Given the description of an element on the screen output the (x, y) to click on. 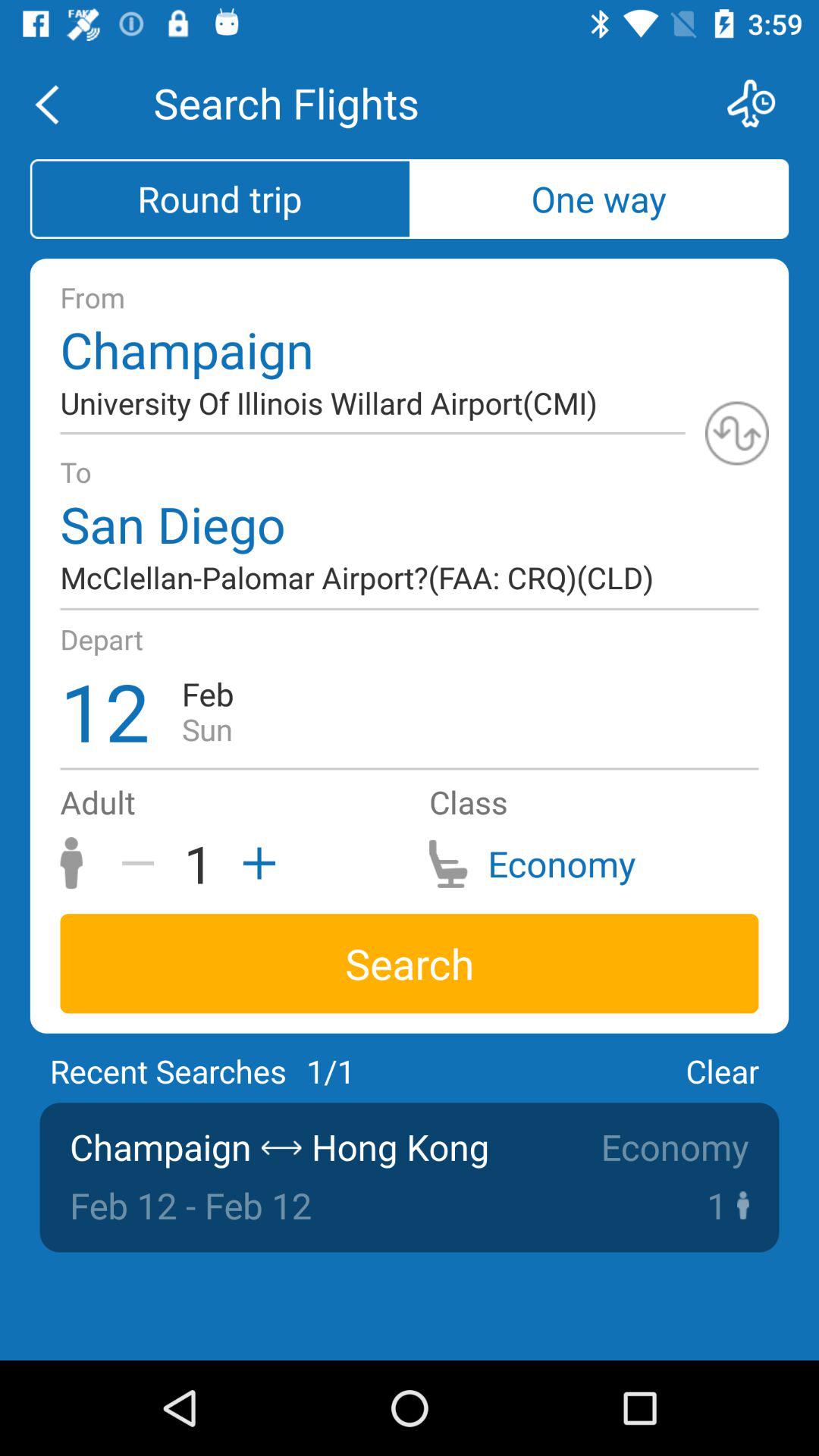
update page (736, 433)
